Given the description of an element on the screen output the (x, y) to click on. 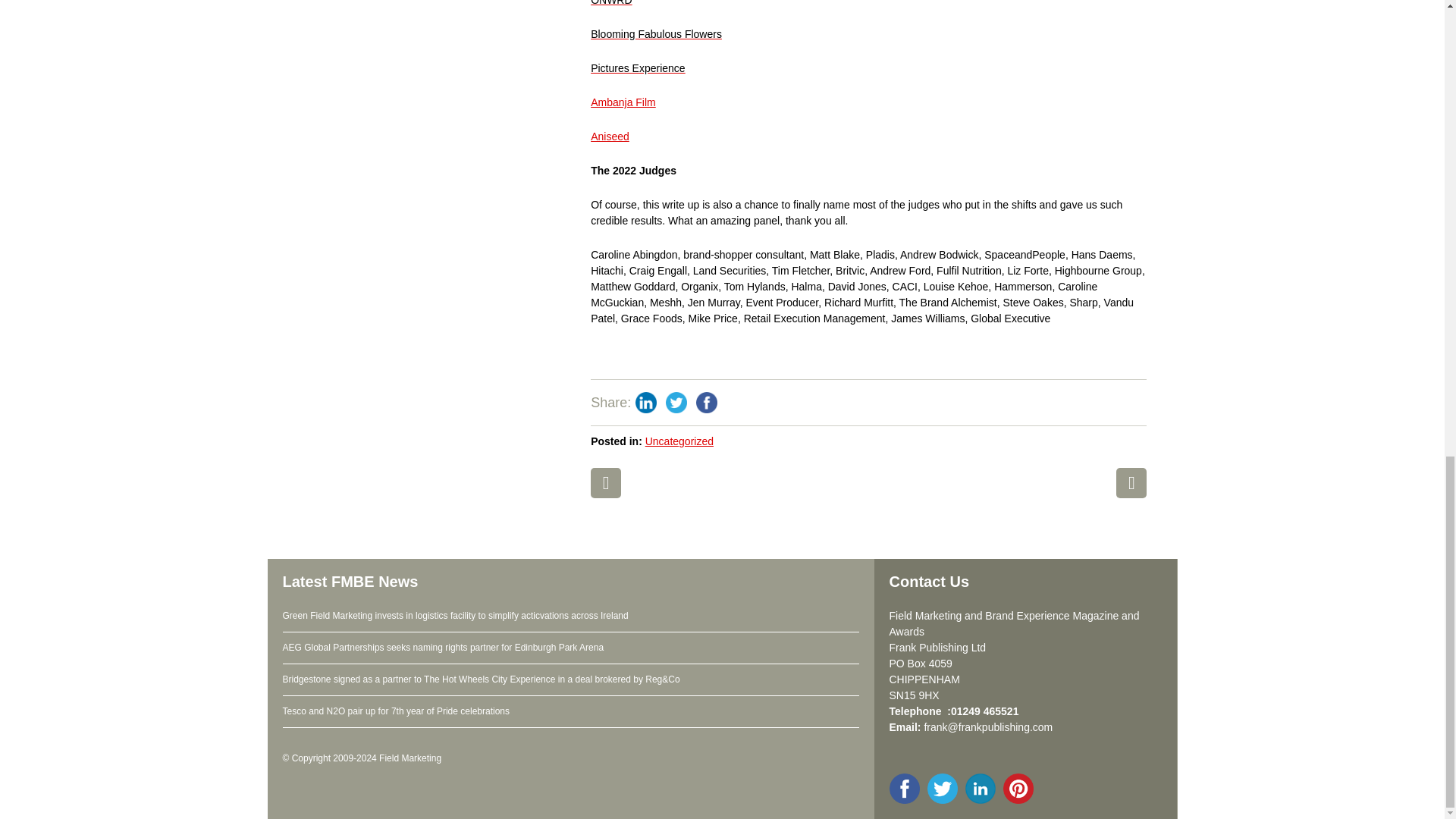
Twitter (676, 402)
LinkedIn (645, 402)
Facebook (706, 402)
